Given the description of an element on the screen output the (x, y) to click on. 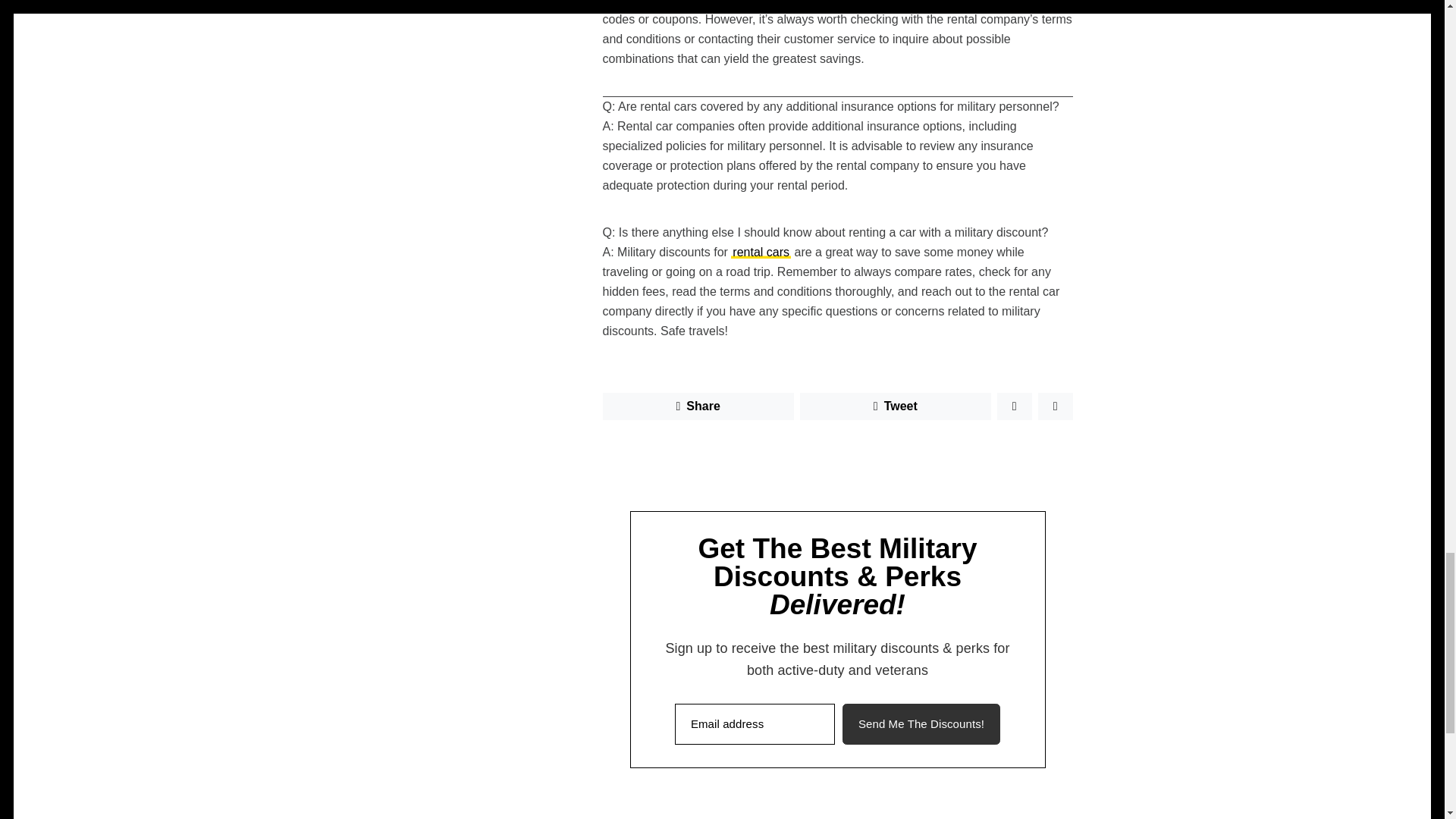
rental cars (760, 251)
Tweet (895, 406)
Share (697, 406)
Send Me The Discounts! (921, 723)
